Given the description of an element on the screen output the (x, y) to click on. 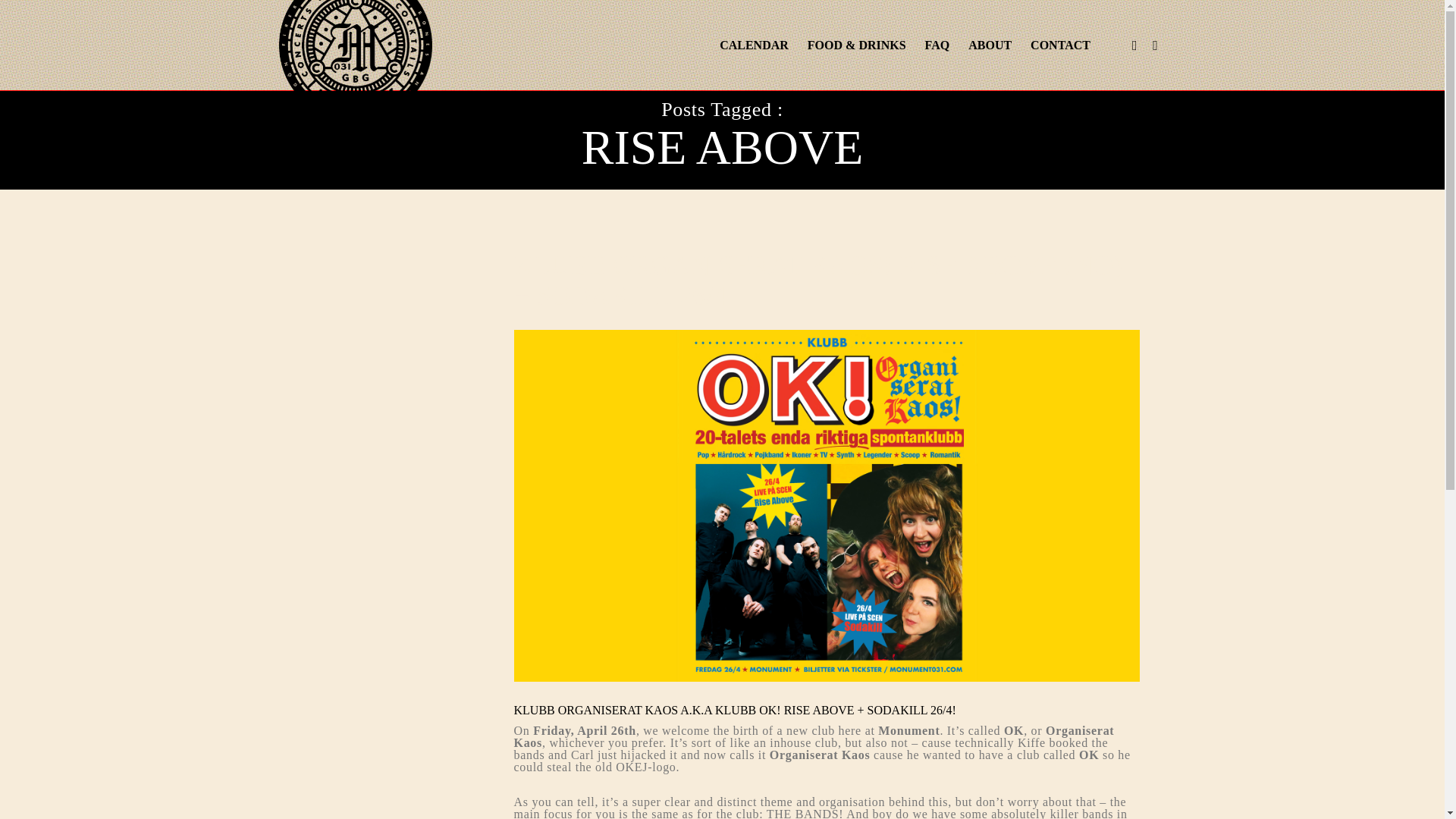
CALENDAR (744, 45)
